Given the description of an element on the screen output the (x, y) to click on. 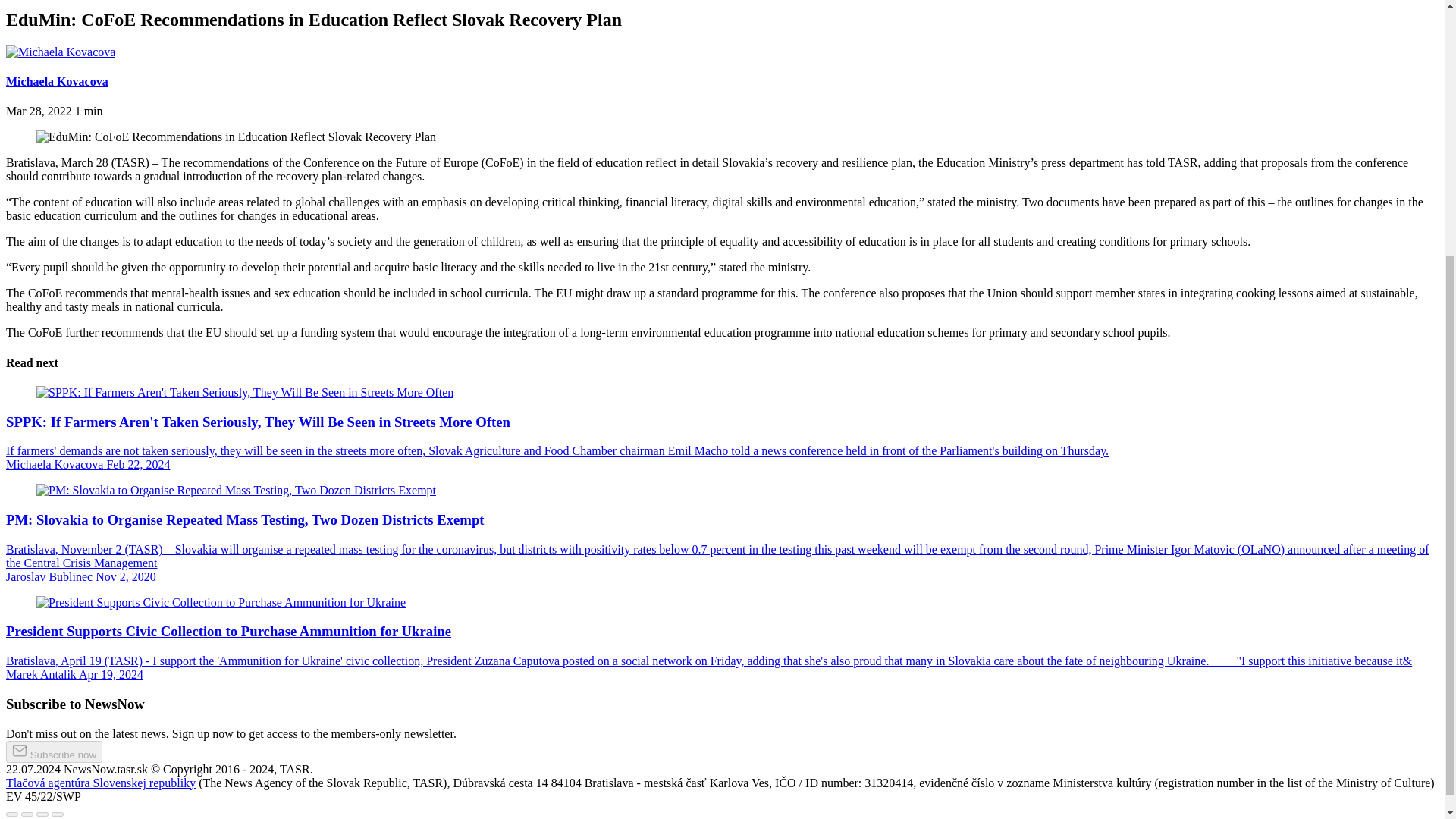
Michaela Kovacova (56, 81)
Toggle fullscreen (42, 814)
Share (27, 814)
Subscribe now (53, 751)
